Given the description of an element on the screen output the (x, y) to click on. 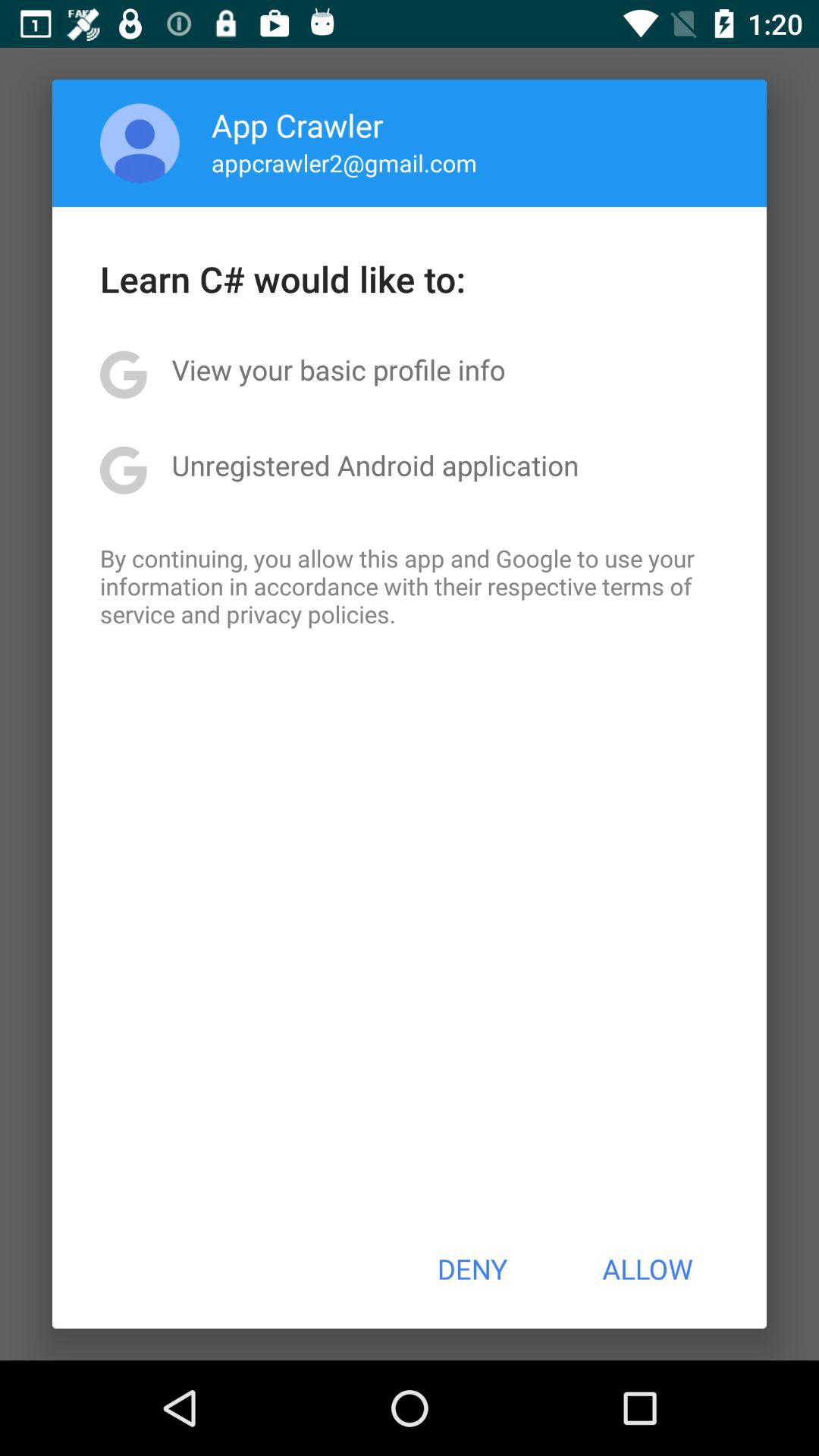
open the app above the by continuing you item (374, 465)
